Given the description of an element on the screen output the (x, y) to click on. 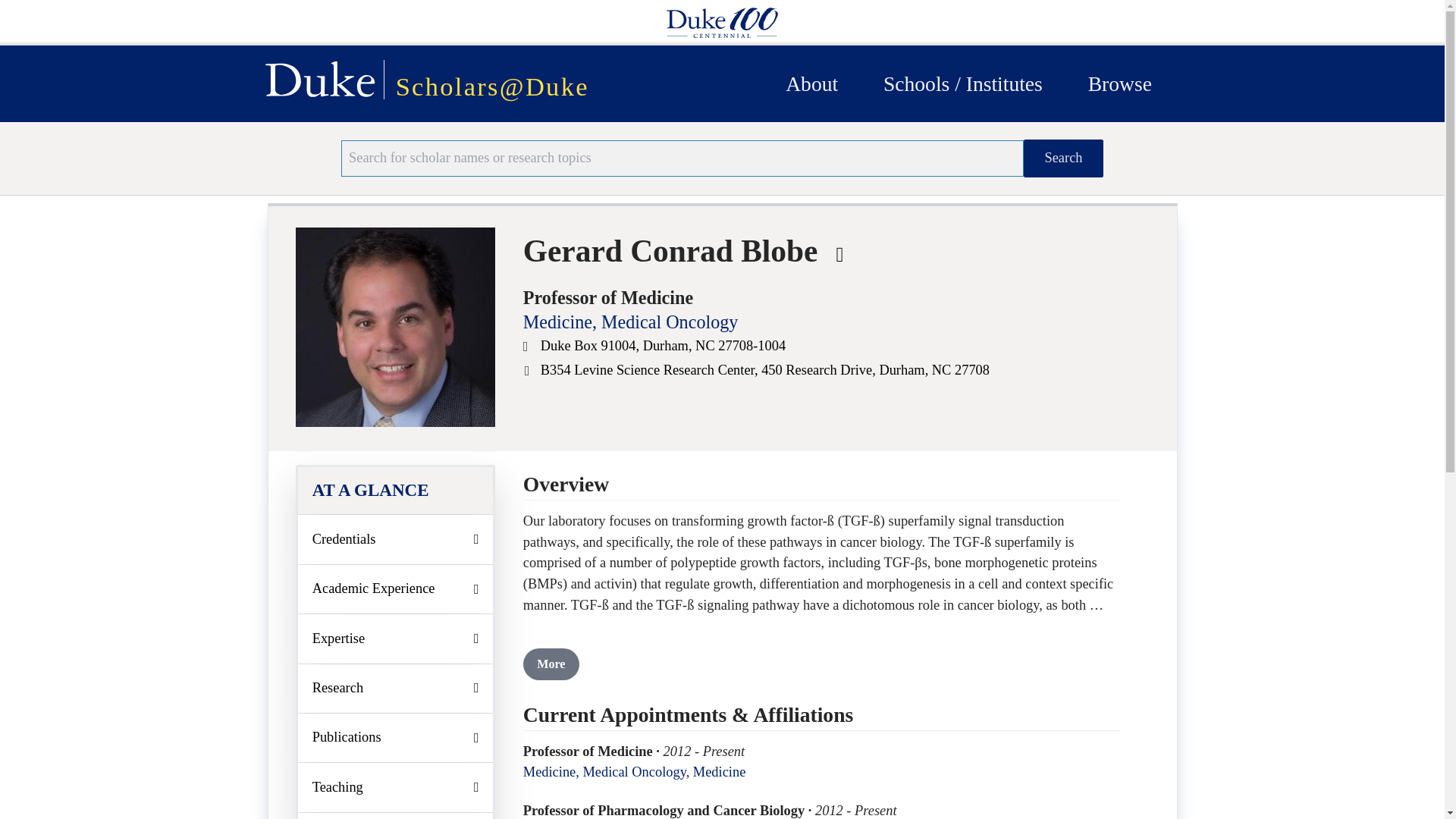
Search (1063, 158)
Teaching (395, 786)
Recognition (395, 816)
Credentials (395, 539)
About (812, 83)
Search (1063, 158)
AT A GLANCE (395, 490)
Publications (395, 737)
Medicine, Medical Oncology (630, 322)
